Given the description of an element on the screen output the (x, y) to click on. 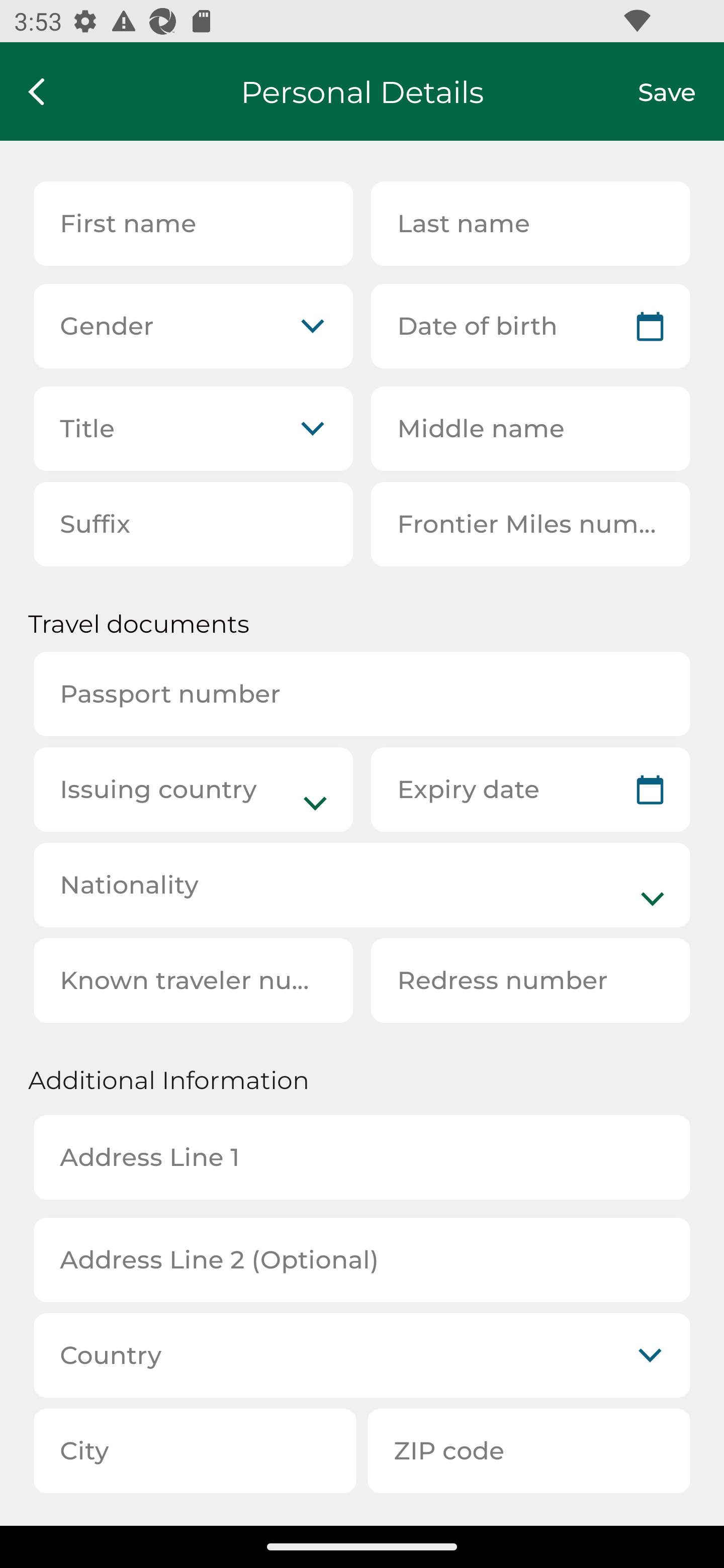
Save (680, 91)
First name (192, 223)
Last name (530, 223)
Gender (192, 326)
Date of birth (530, 326)
Title (192, 428)
Middle name (530, 428)
Suffix (192, 523)
Frontier Miles number (530, 523)
Passport number (361, 693)
Issuing country (192, 789)
Expiry date (530, 789)
Nationality (361, 884)
Known traveler number (192, 980)
Redress number (530, 980)
Address Line 1 (361, 1157)
Address Line 2 (Optional) (361, 1259)
Country (361, 1355)
City (194, 1450)
ZIP code (528, 1450)
